Given the description of an element on the screen output the (x, y) to click on. 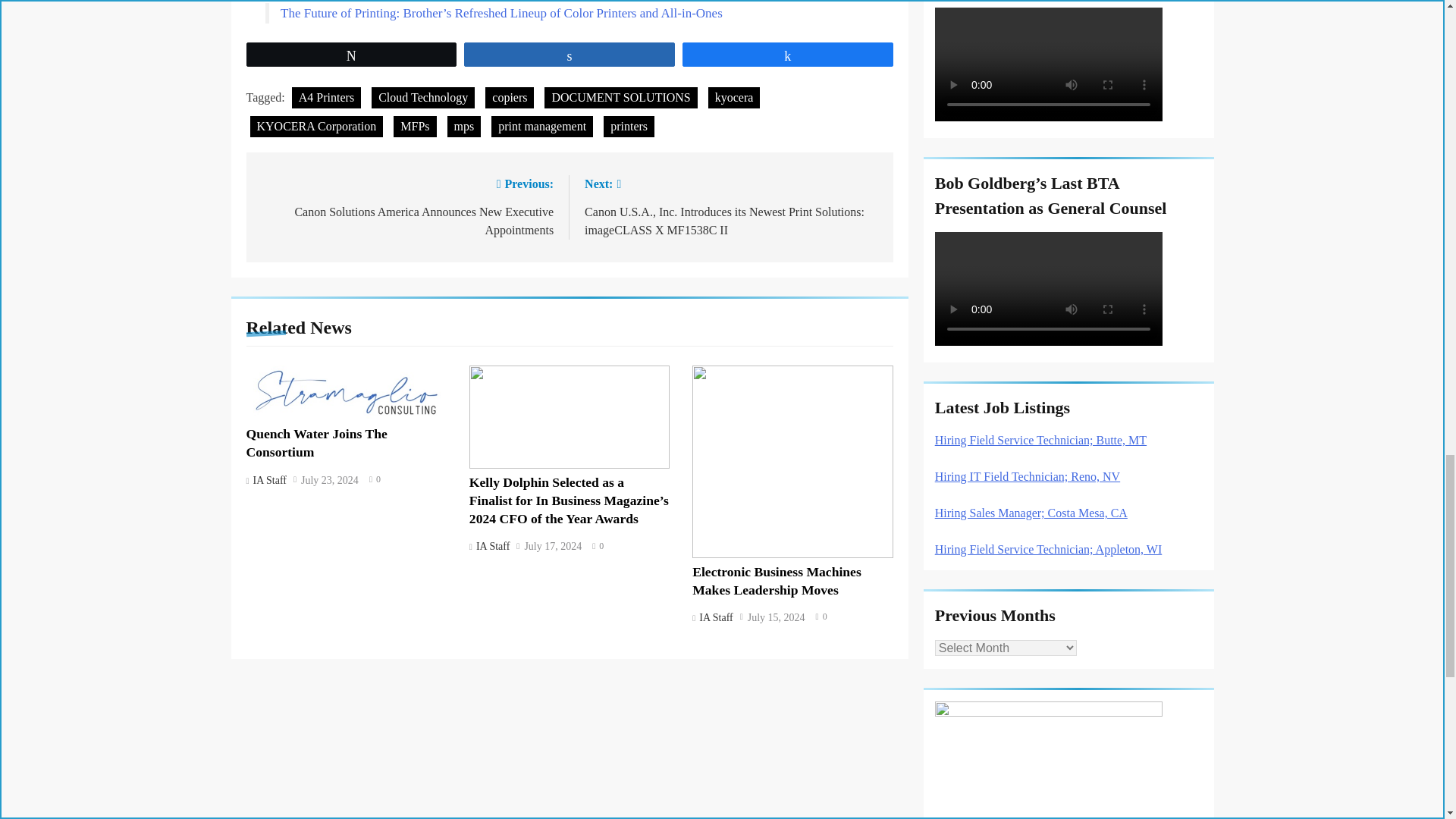
Hiring IT Field Technician; Reno, NV (1026, 476)
Hiring Sales Manager; Costa Mesa, CA (1030, 512)
Hiring Field Service Technician; Appleton, WI (1047, 549)
Hiring Field Service Technician; Butte, MT (1040, 440)
